Given the description of an element on the screen output the (x, y) to click on. 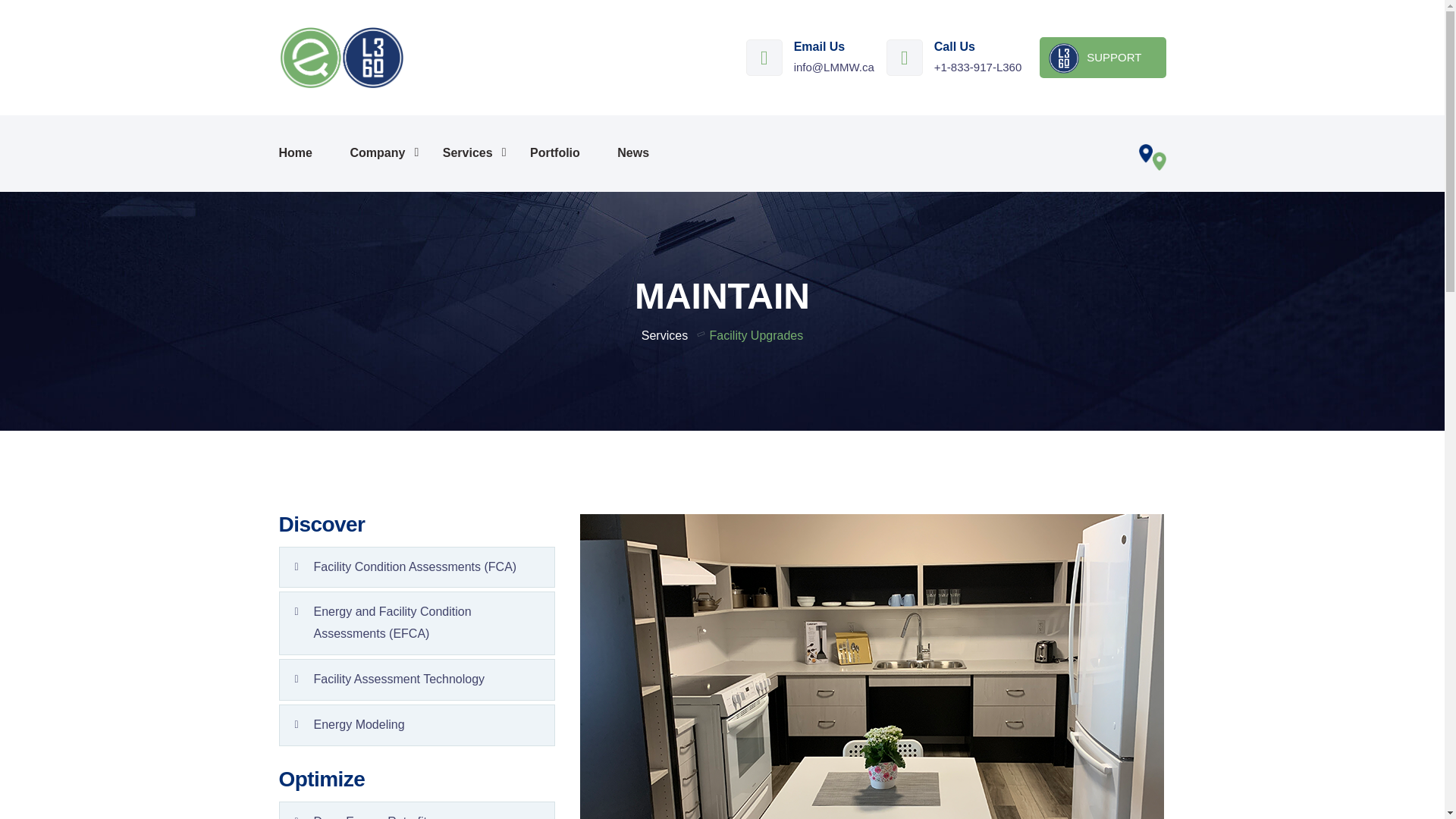
SUPPORT (1102, 56)
